Given the description of an element on the screen output the (x, y) to click on. 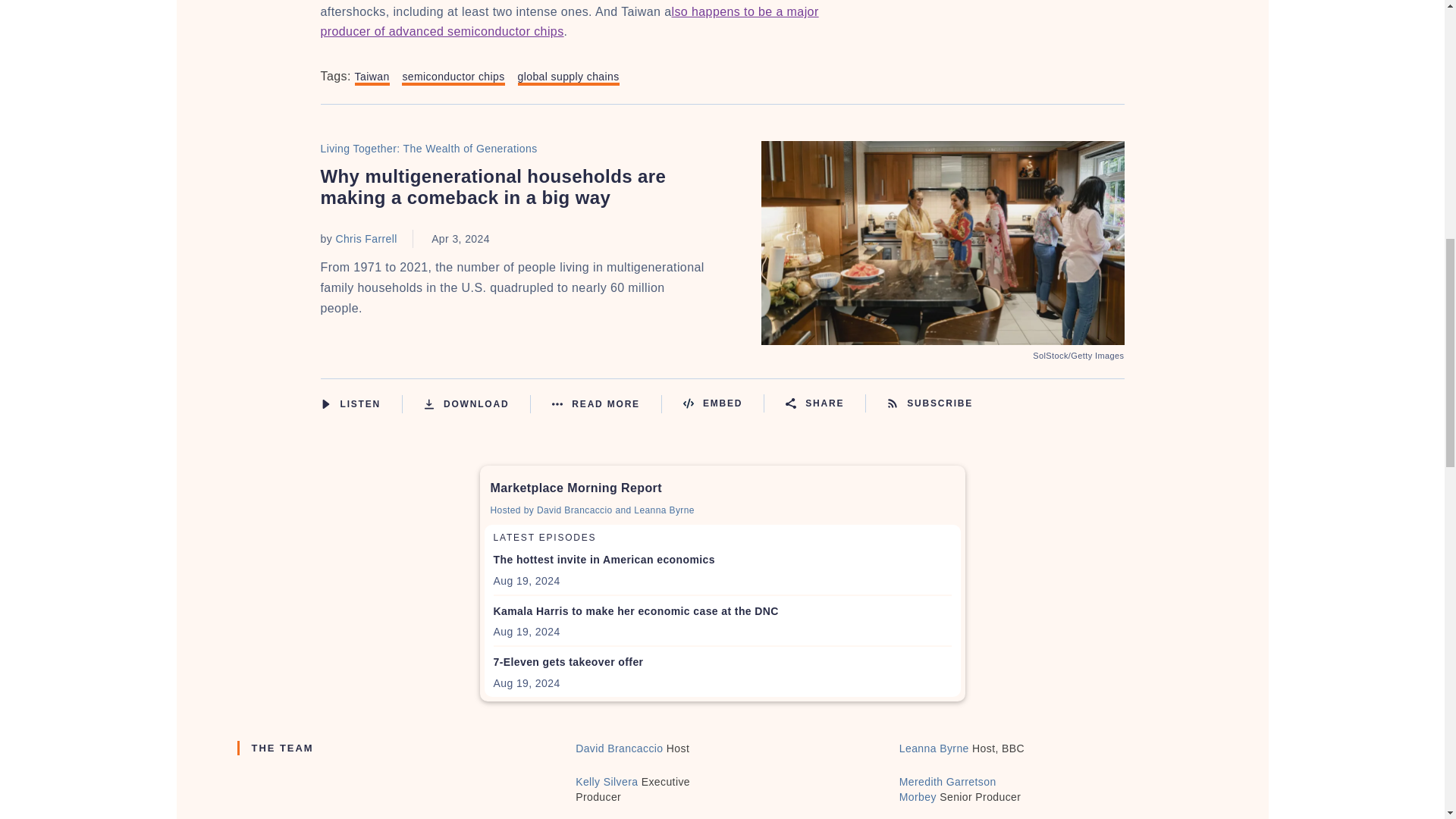
Read More (606, 403)
Download (477, 403)
Listen Now (360, 403)
LISTEN (325, 403)
